Given the description of an element on the screen output the (x, y) to click on. 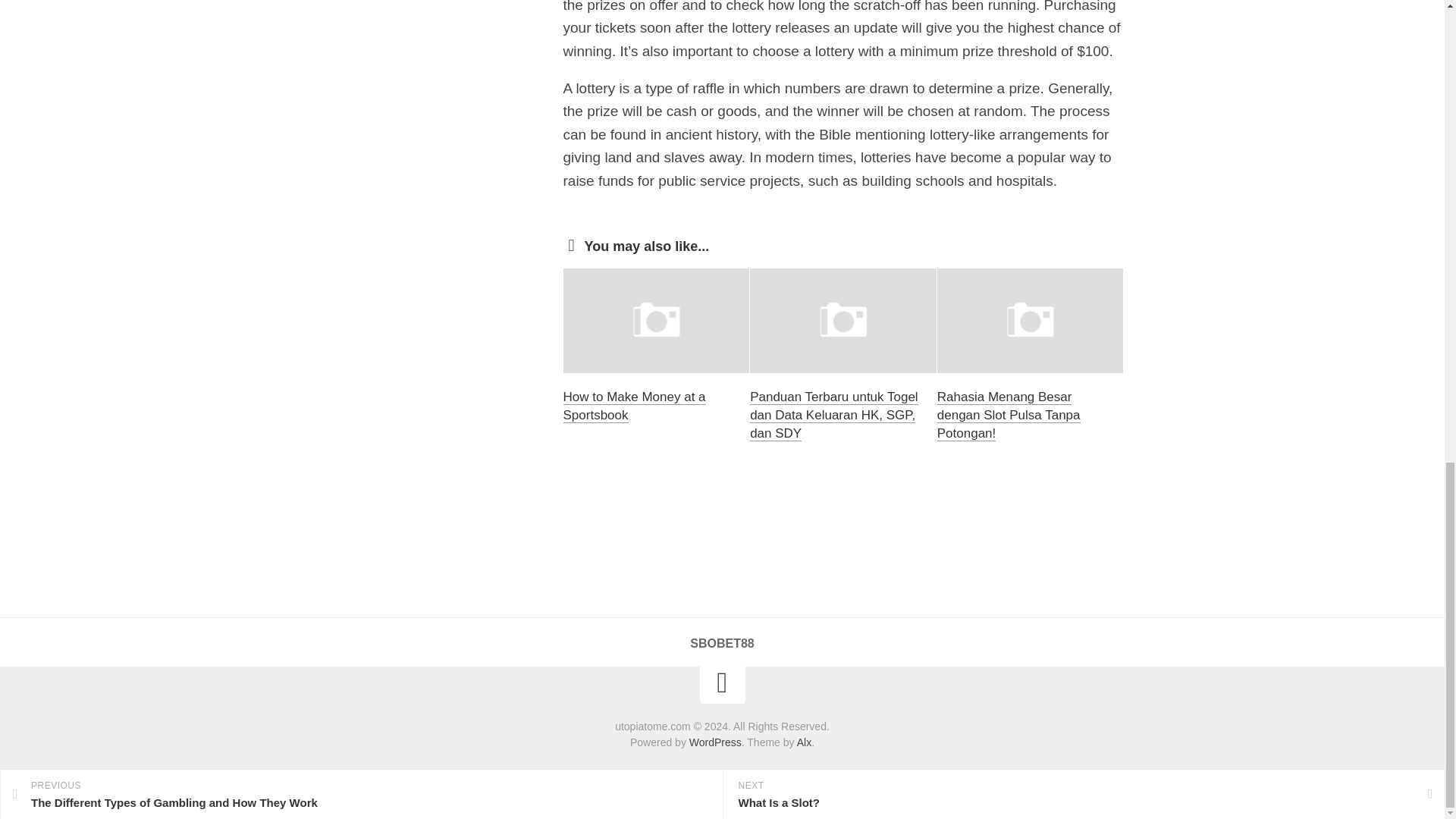
Alx (803, 742)
How to Make Money at a Sportsbook (633, 405)
WordPress (714, 742)
Rahasia Menang Besar dengan Slot Pulsa Tanpa Potongan! (1008, 414)
SBOBET88 (722, 643)
